Given the description of an element on the screen output the (x, y) to click on. 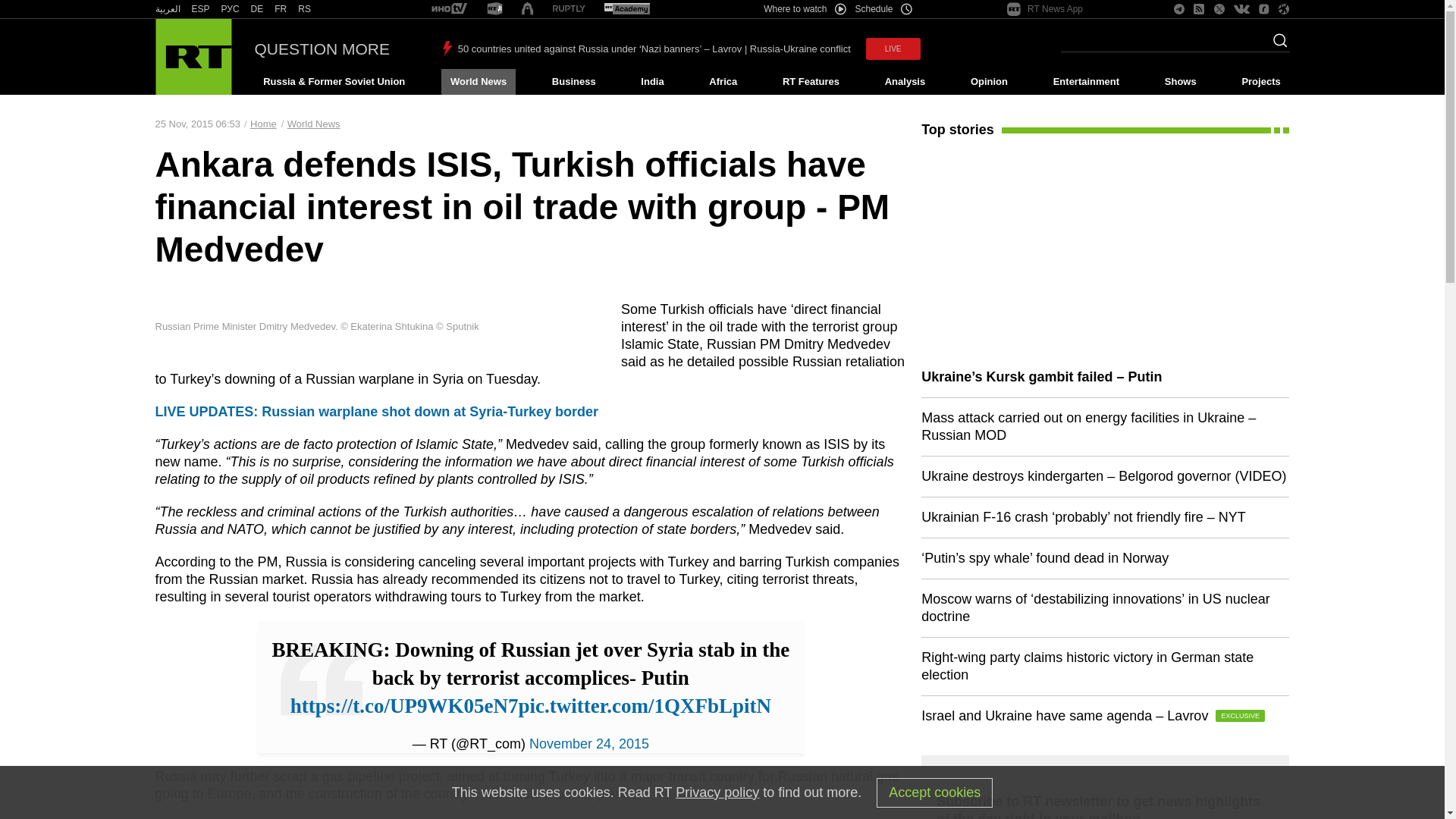
RT  (199, 9)
India (651, 81)
Search (1276, 44)
RT  (569, 8)
Where to watch (803, 9)
RT  (166, 9)
Africa (722, 81)
DE (256, 9)
RT  (280, 9)
Schedule (884, 9)
